Given the description of an element on the screen output the (x, y) to click on. 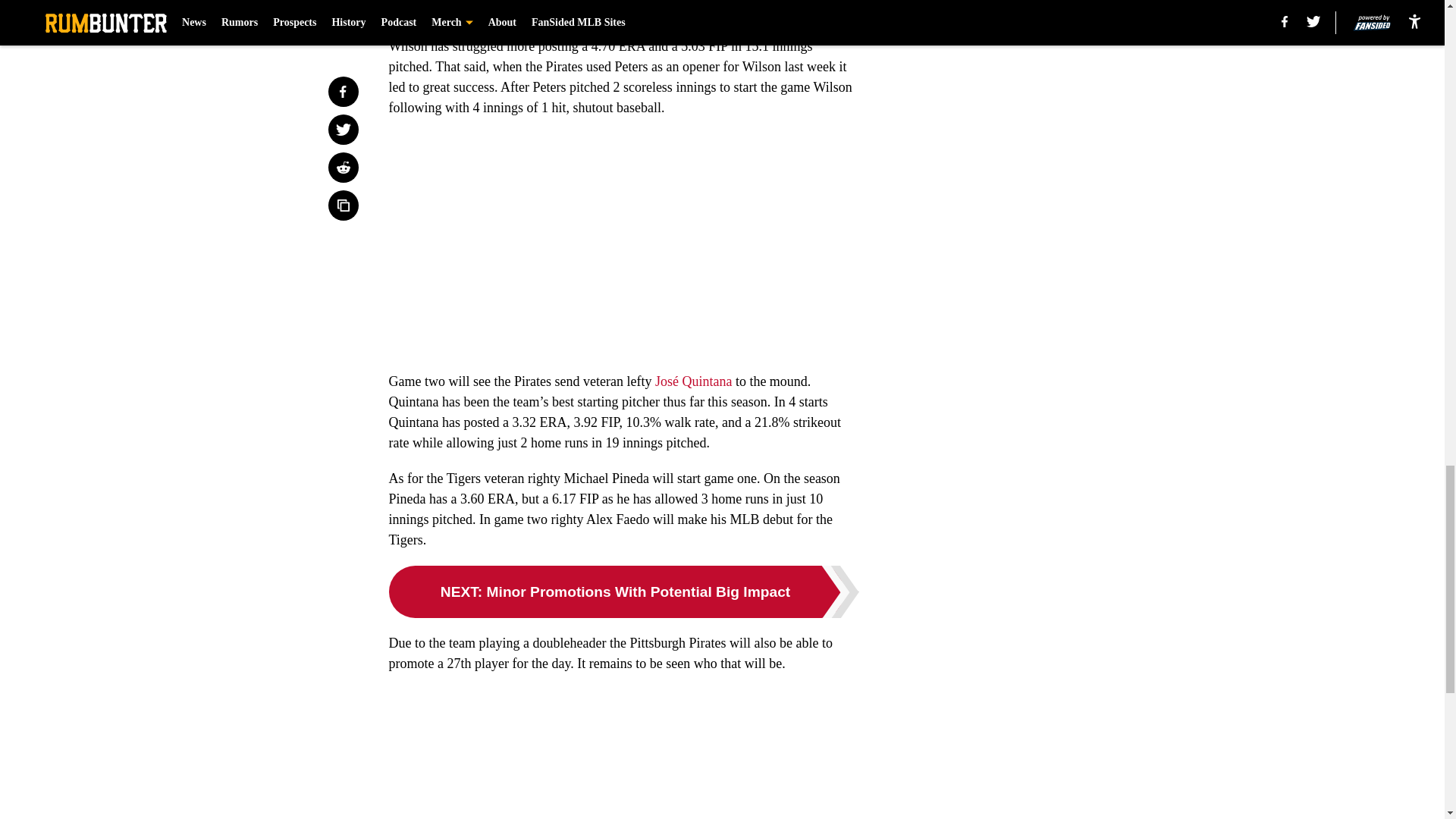
NEXT: Minor Promotions With Potential Big Impact (623, 591)
